Given the description of an element on the screen output the (x, y) to click on. 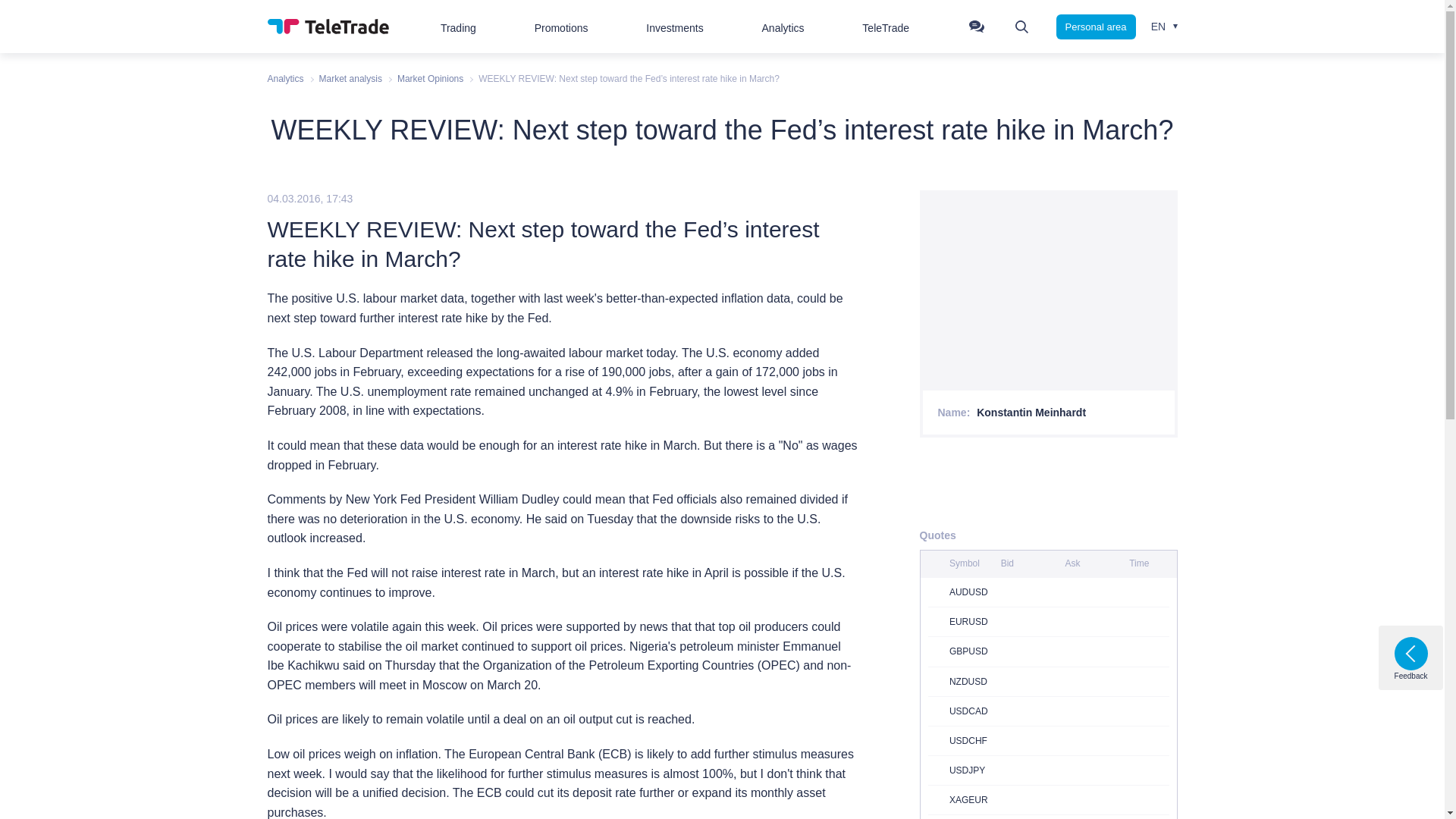
Market analysis (349, 79)
Market Opinions (430, 79)
Analytics (284, 79)
